Given the description of an element on the screen output the (x, y) to click on. 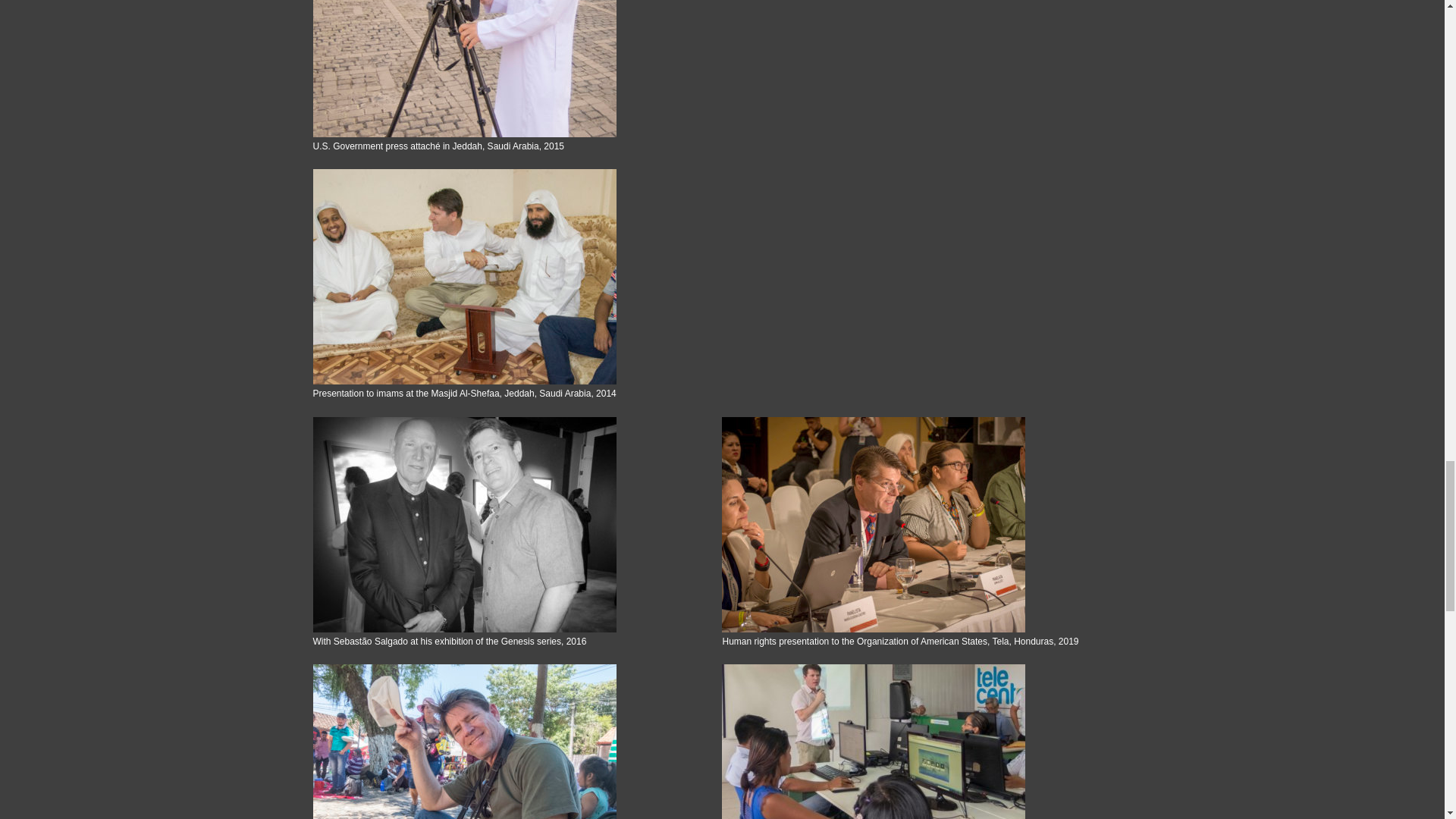
Jeddah, Saudi Arabia, 2015 (508, 68)
Human rights presentation in Pucallpa, Peru, 2019 (918, 741)
